Given the description of an element on the screen output the (x, y) to click on. 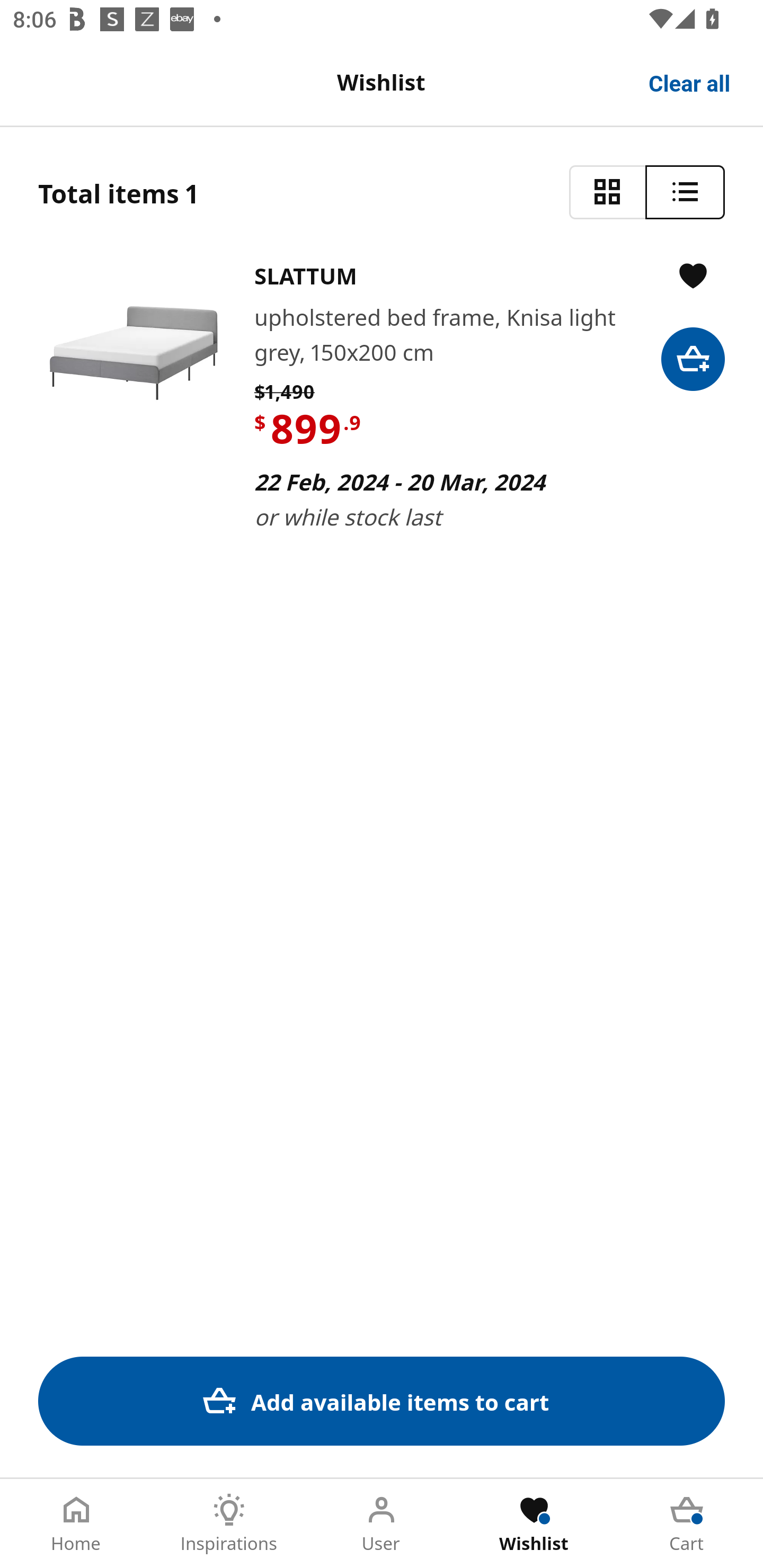
Clear all (689, 81)
Add available items to cart (381, 1400)
Home
Tab 1 of 5 (76, 1522)
Inspirations
Tab 2 of 5 (228, 1522)
User
Tab 3 of 5 (381, 1522)
Wishlist
Tab 4 of 5 (533, 1522)
Cart
Tab 5 of 5 (686, 1522)
